Given the description of an element on the screen output the (x, y) to click on. 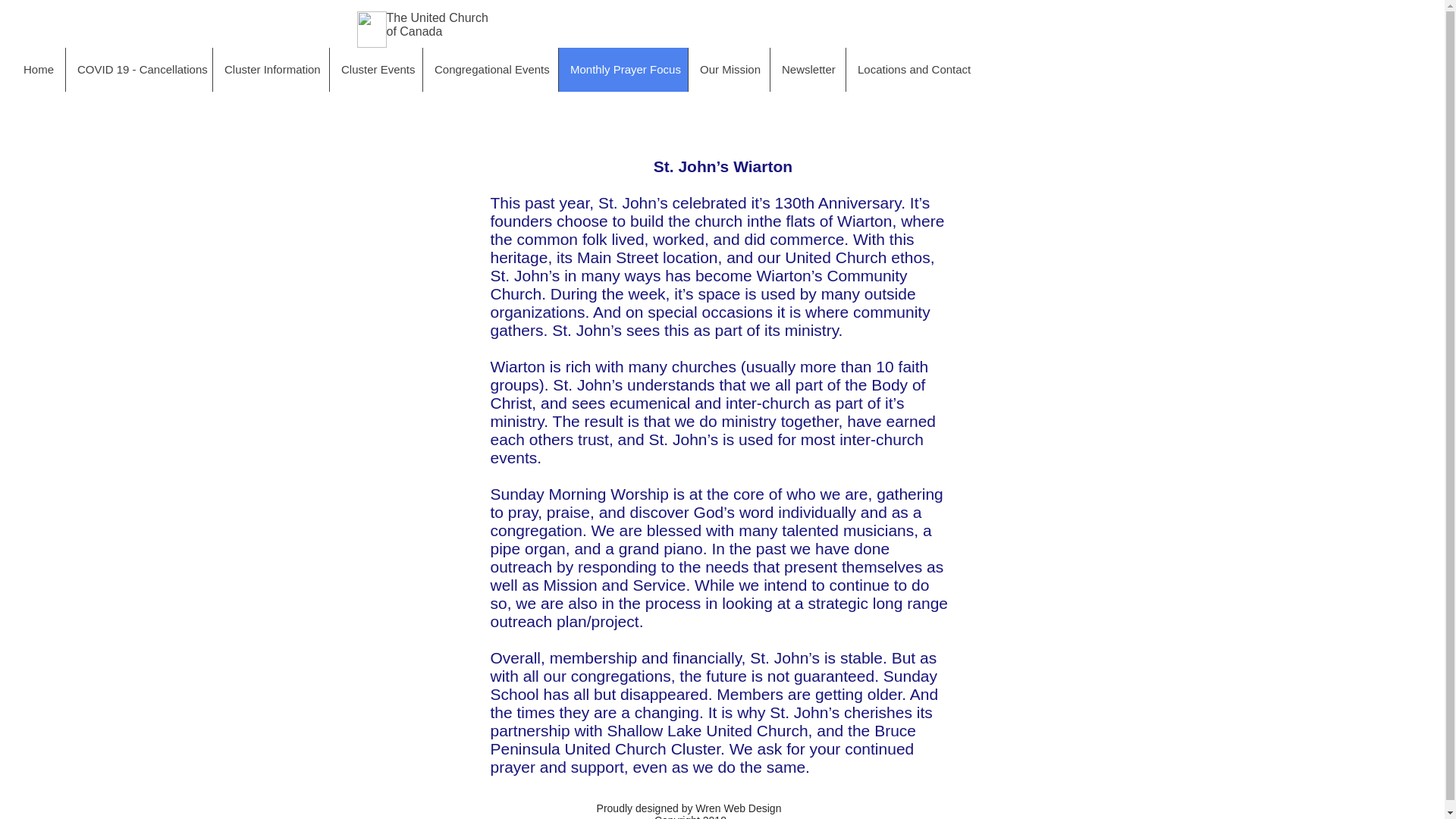
COVID 19 - Cancellations (138, 69)
Home (38, 69)
Cluster Information (270, 69)
Locations and Contact (912, 69)
Monthly Prayer Focus (622, 69)
Our Mission (728, 69)
Congregational Events (489, 69)
Cluster Events (375, 69)
Newsletter (807, 69)
